Given the description of an element on the screen output the (x, y) to click on. 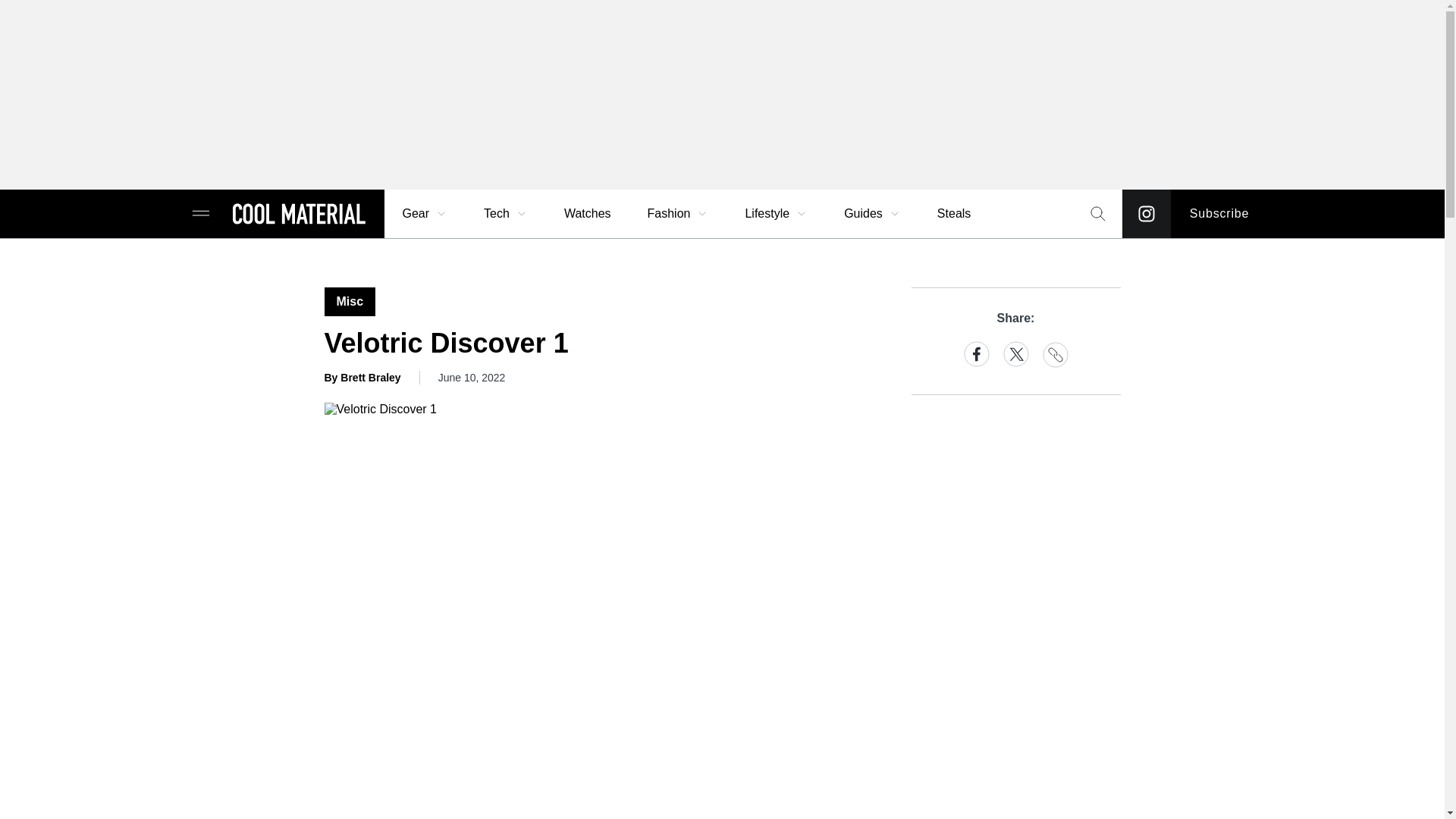
Tech (505, 213)
Gear (424, 213)
Watches (587, 213)
Lifestyle (775, 213)
Guides (871, 213)
Fashion (677, 213)
